Given the description of an element on the screen output the (x, y) to click on. 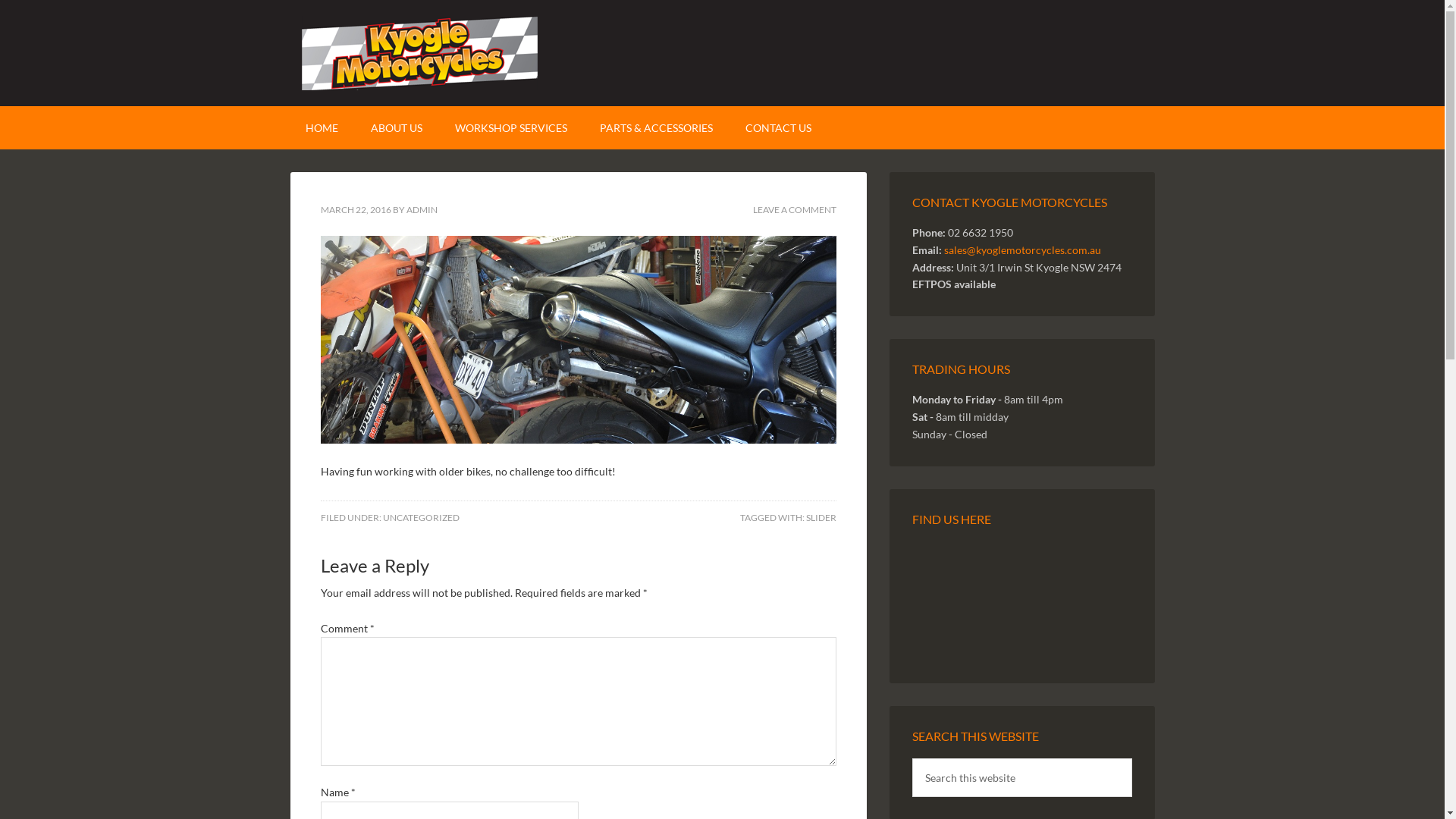
HOME Element type: text (320, 127)
ABOUT US Element type: text (395, 127)
PARTS & ACCESSORIES Element type: text (655, 127)
Search Element type: text (1131, 757)
KYOGLE MOTORCYCLES Element type: text (721, 53)
CONTACT US Element type: text (777, 127)
ADMIN Element type: text (421, 209)
LEAVE A COMMENT Element type: text (793, 209)
WORKSHOP SERVICES Element type: text (510, 127)
sales@kyoglemotorcycles.com.au Element type: text (1021, 249)
UNCATEGORIZED Element type: text (420, 517)
SLIDER Element type: text (820, 517)
